Given the description of an element on the screen output the (x, y) to click on. 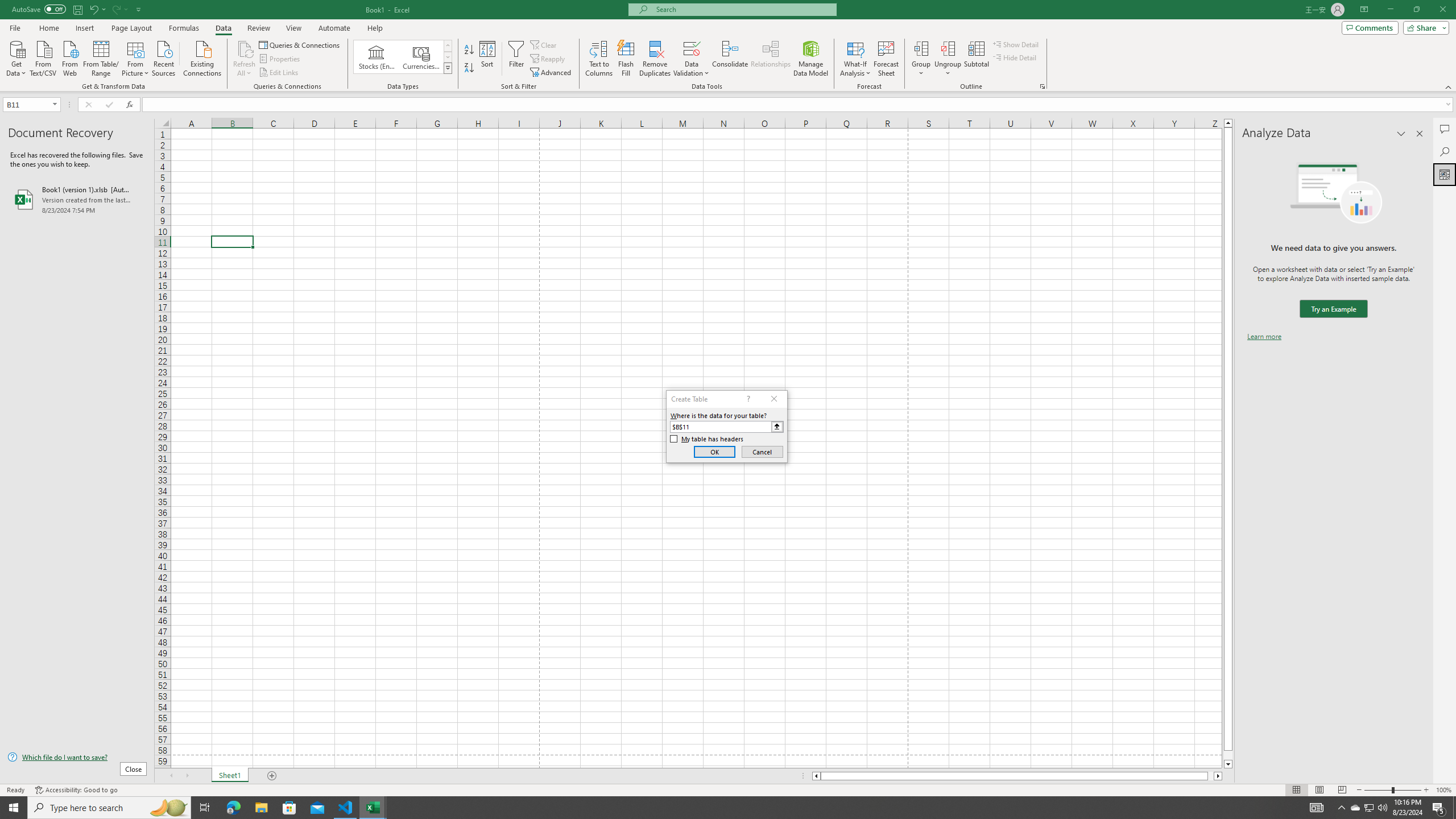
From Text/CSV (43, 57)
Recent Sources (163, 57)
Relationships (770, 58)
Currencies (English) (420, 56)
Clear (544, 44)
Group and Outline Settings (1042, 85)
AutomationID: ConvertToLinkedEntity (403, 56)
